Given the description of an element on the screen output the (x, y) to click on. 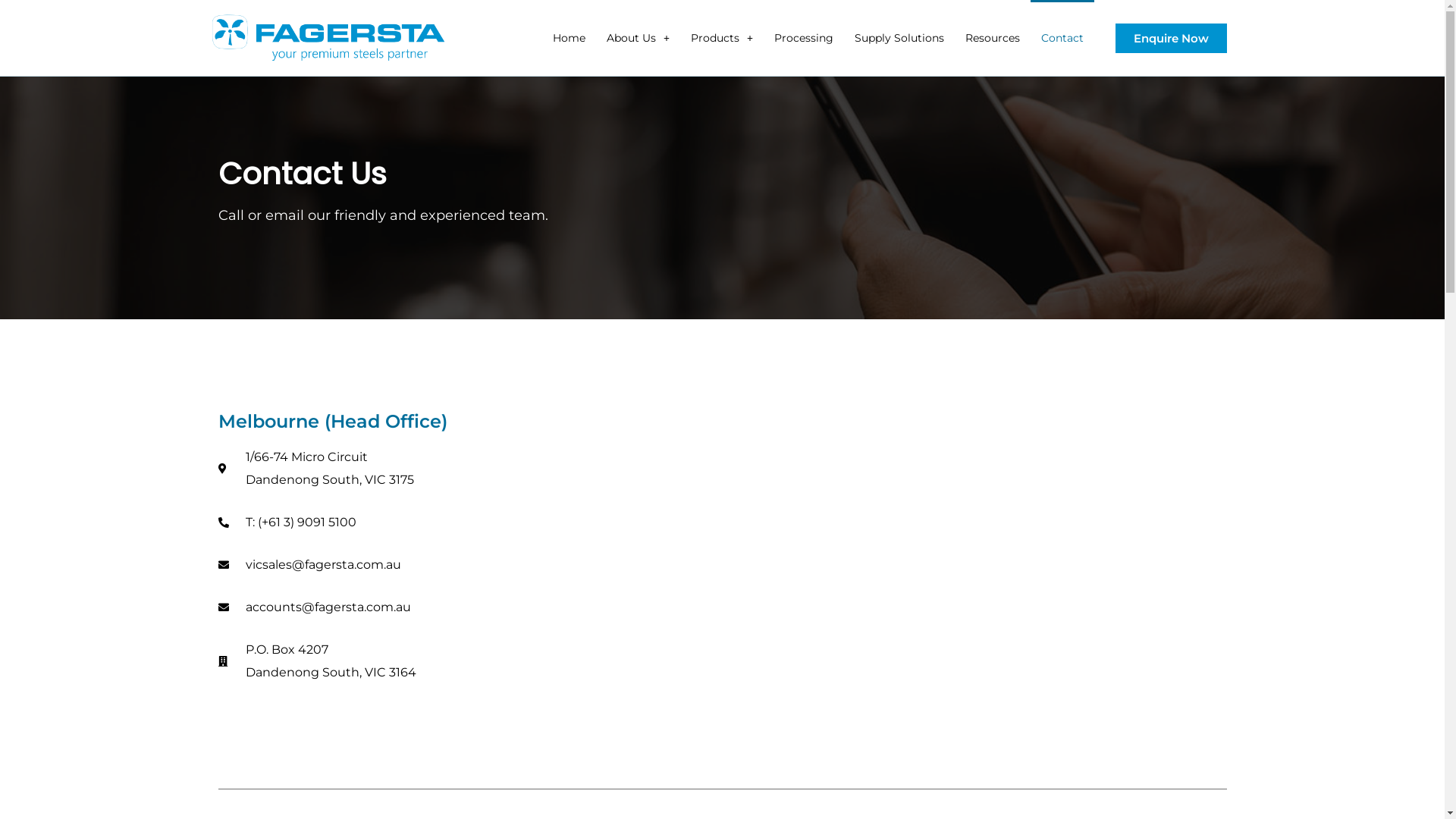
Products Element type: text (721, 37)
Home Element type: text (569, 37)
accounts@fagersta.com.au Element type: text (364, 607)
Supply Solutions Element type: text (899, 37)
Contact Element type: text (1062, 37)
vicsales@fagersta.com.au Element type: text (364, 564)
About Us Element type: text (638, 37)
Processing Element type: text (803, 37)
Resources Element type: text (992, 37)
T: (+61 3) 9091 5100 Element type: text (364, 522)
Enquire Now Element type: text (1170, 37)
